Given the description of an element on the screen output the (x, y) to click on. 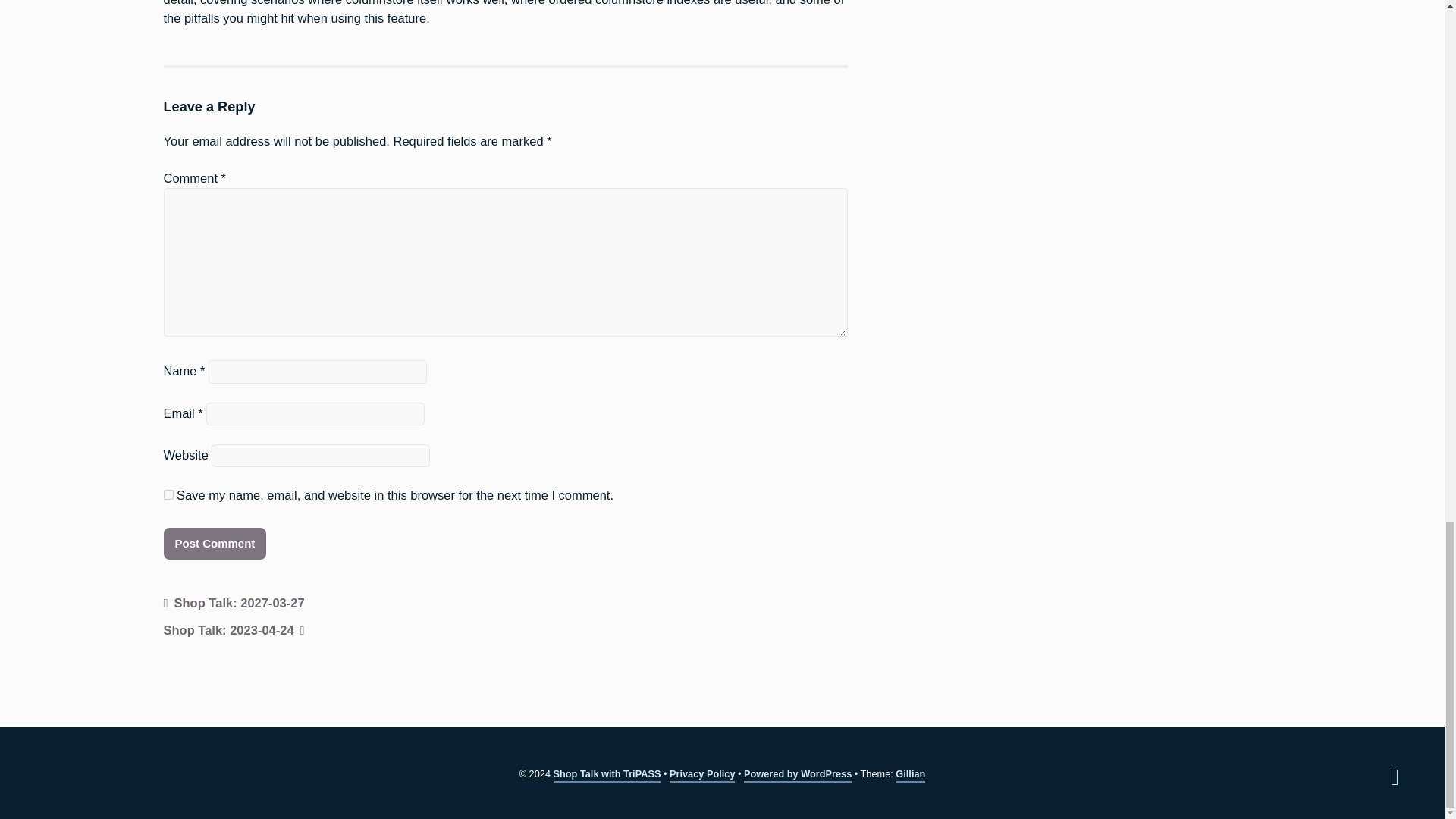
Shop Talk: 2023-04-24 (233, 631)
yes (168, 494)
Post Comment (214, 543)
Shop Talk: 2027-03-27 (233, 604)
Gillian (909, 775)
Powered by WordPress (797, 775)
Back to top (1394, 776)
Post Comment (214, 543)
Privacy Policy (702, 775)
Shop Talk with TriPASS (607, 775)
